Given the description of an element on the screen output the (x, y) to click on. 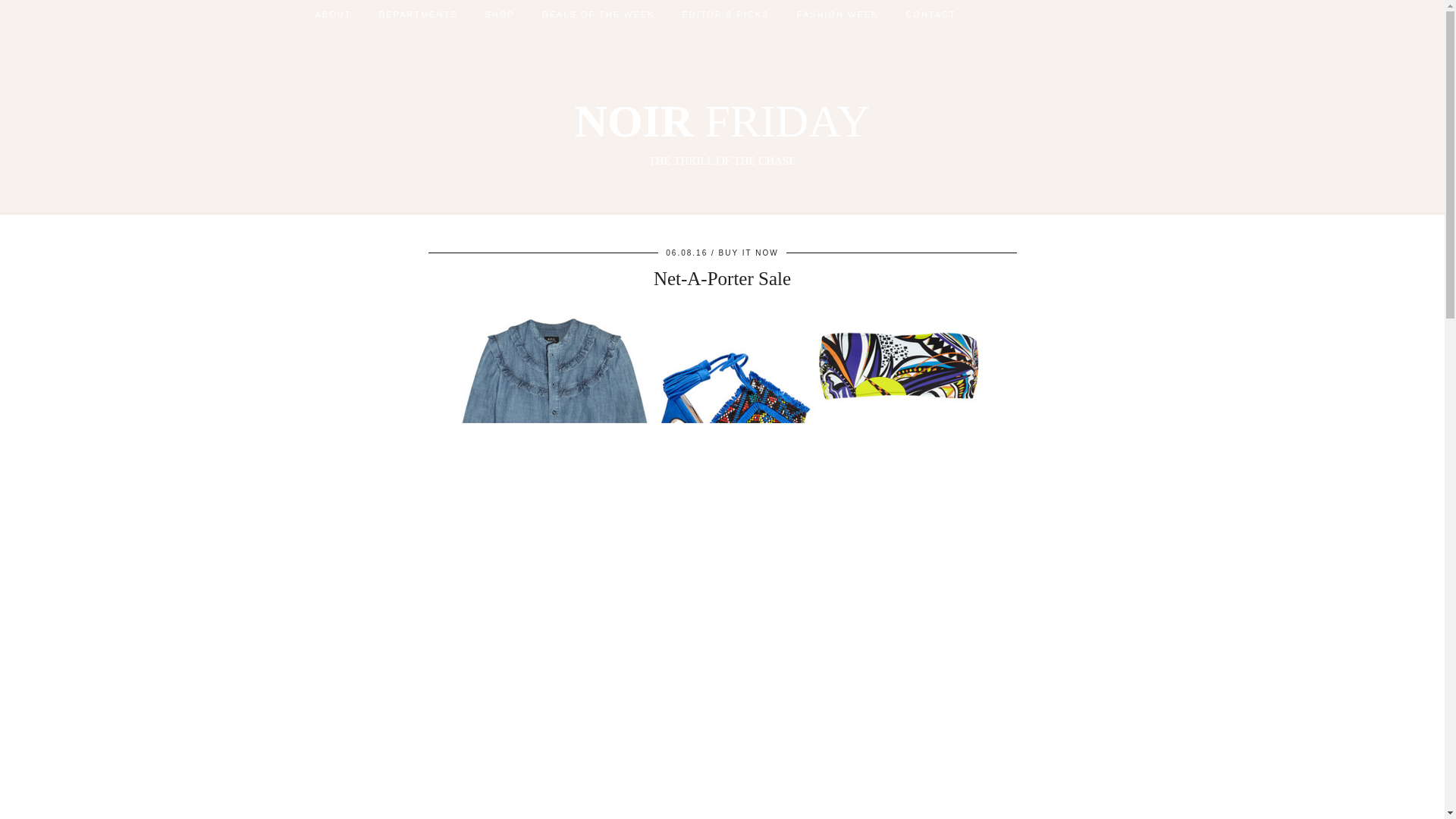
ABOUT (333, 14)
Noir Friday (721, 132)
CONTACT (930, 14)
DEALS OF THE WEEK (598, 14)
SHOP (721, 132)
DEPARTMENTS (499, 14)
BUY IT NOW (417, 14)
FASHION WEEK (748, 252)
